Given the description of an element on the screen output the (x, y) to click on. 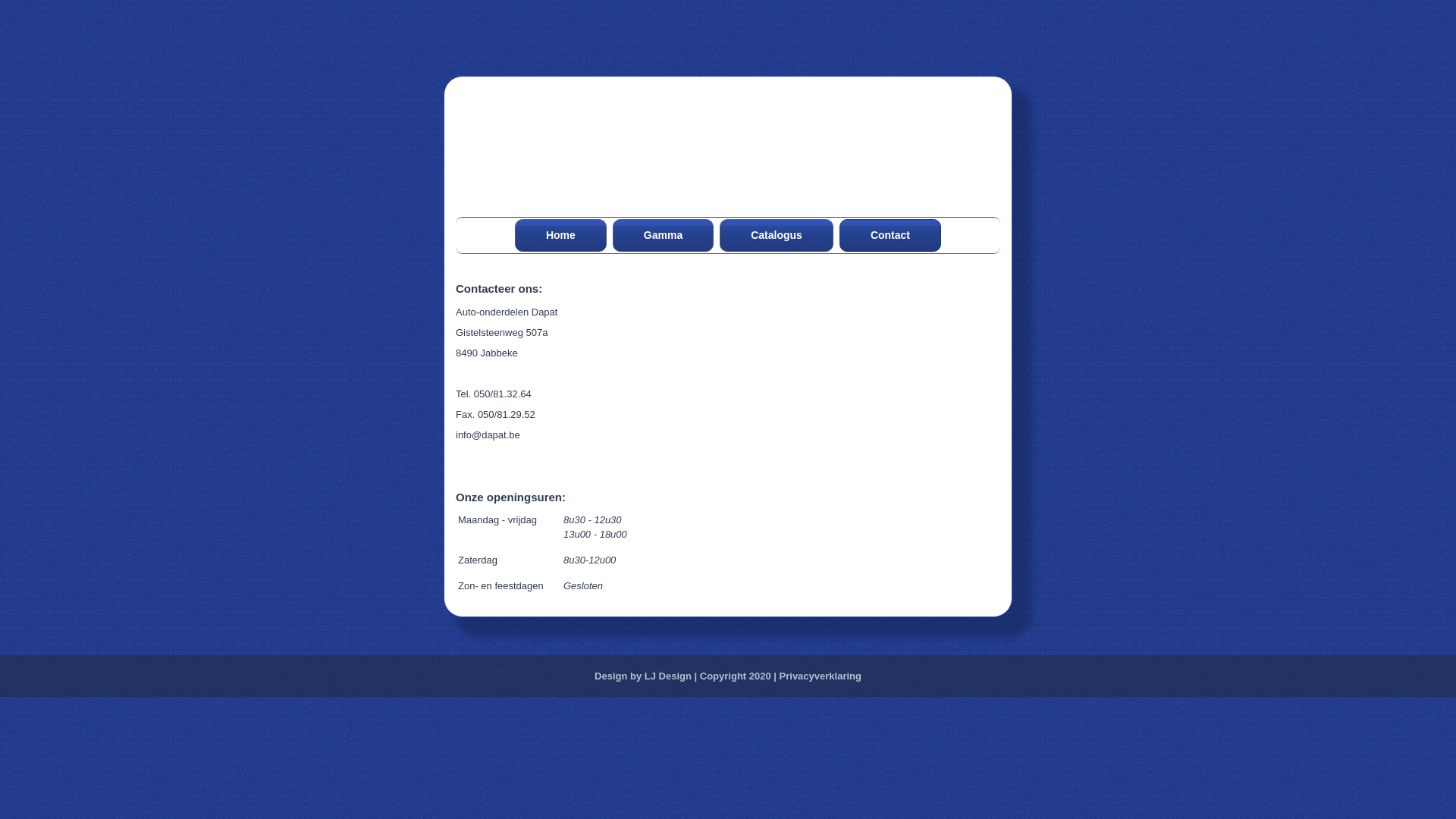
Gamma Element type: text (662, 235)
Home Element type: text (560, 235)
Privacyverklaring Element type: text (820, 675)
Contact Element type: text (890, 235)
LJ Design Element type: text (667, 675)
Catalogus Element type: text (776, 235)
